Given the description of an element on the screen output the (x, y) to click on. 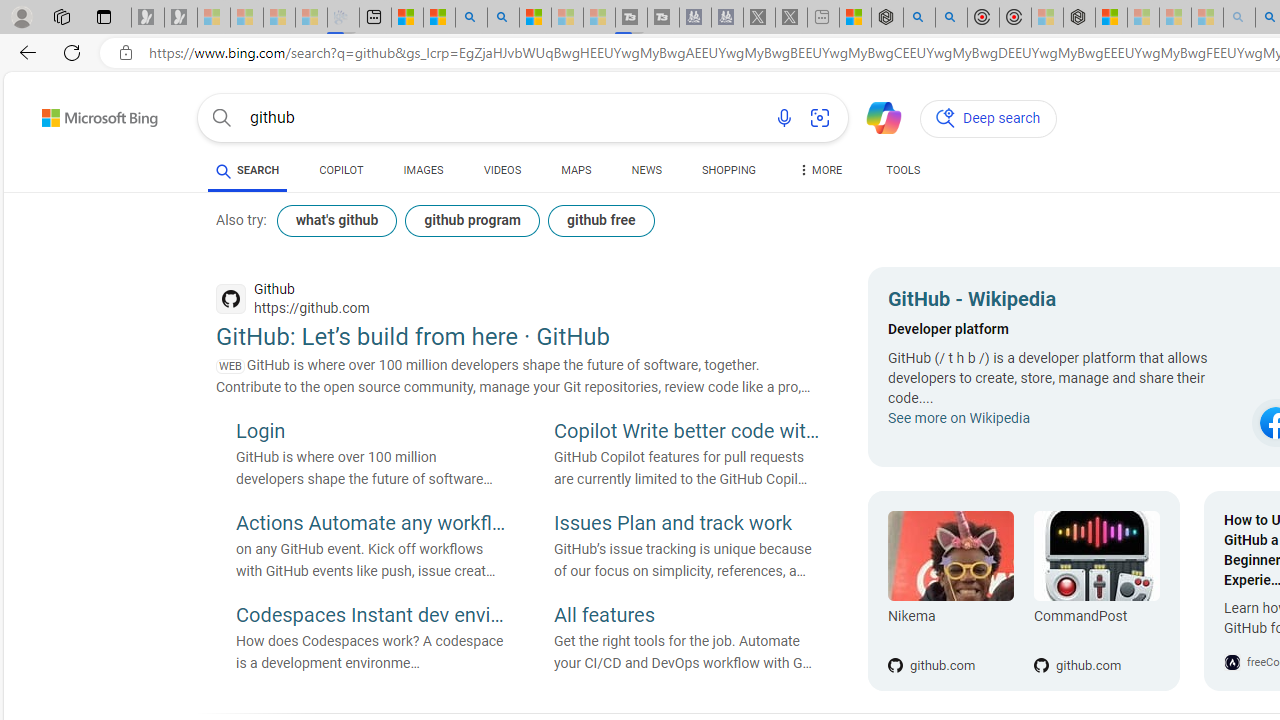
Issues Plan and track work (689, 525)
Actions Automate any workflow (370, 525)
TOOLS (903, 170)
poe - Search (919, 17)
NEWS (646, 173)
COPILOT (341, 170)
Nikema Nikema github.com (950, 591)
COPILOT (341, 173)
MAPS (576, 173)
amazon - Search - Sleeping (1239, 17)
Skip to content (64, 111)
